Given the description of an element on the screen output the (x, y) to click on. 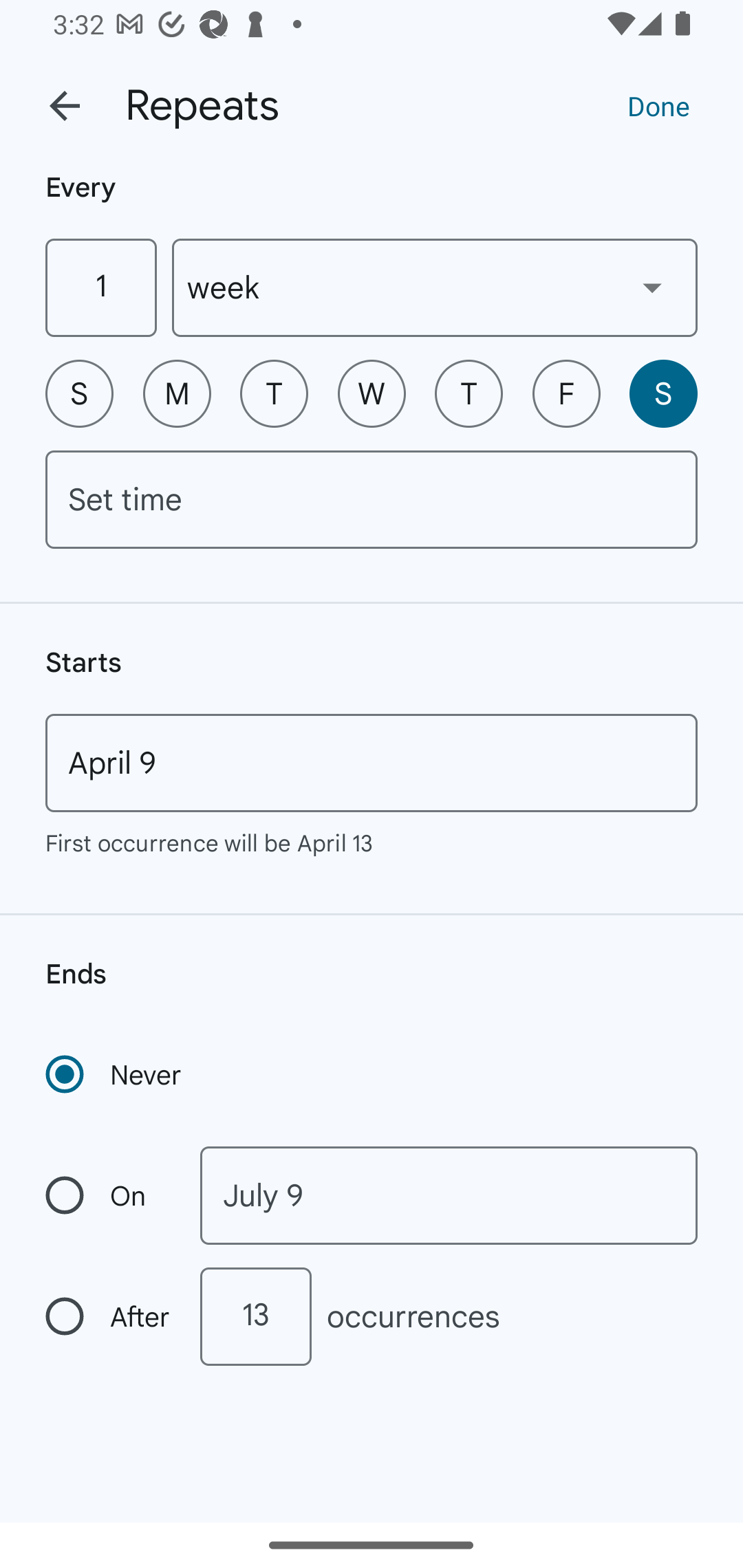
Back (64, 105)
Done (658, 105)
1 (100, 287)
week (434, 287)
Show dropdown menu (652, 286)
S Sunday (79, 393)
M Monday (177, 393)
T Tuesday (273, 393)
W Wednesday (371, 393)
T Thursday (468, 393)
F Friday (566, 393)
S Saturday, selected (663, 393)
Set time (371, 499)
April 9 (371, 762)
Never Recurrence never ends (115, 1074)
July 9 (448, 1195)
On Recurrence ends on a specific date (109, 1195)
13 (255, 1315)
